Given the description of an element on the screen output the (x, y) to click on. 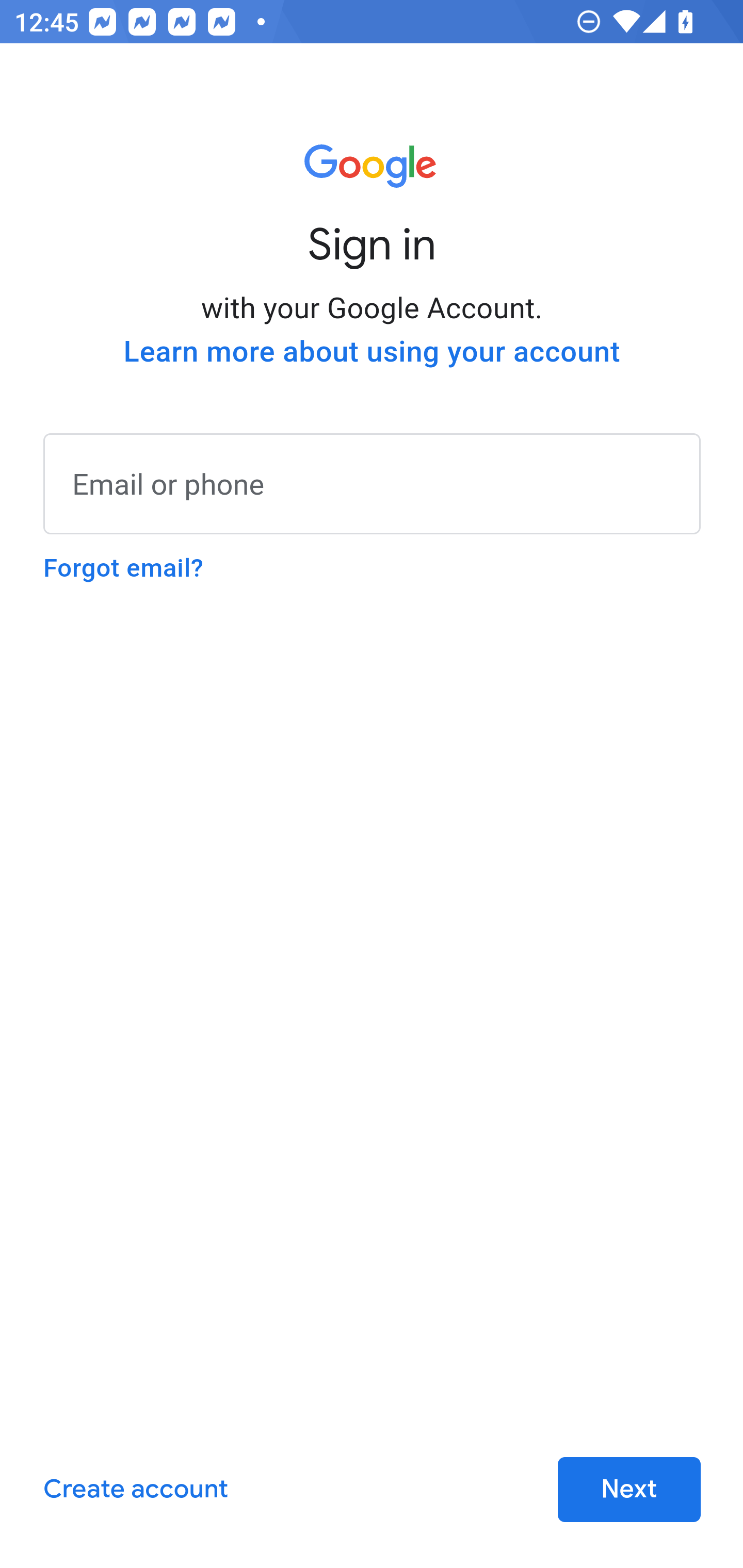
Learn more about using your account (371, 351)
Forgot email? (123, 568)
Create account (134, 1490)
Next (629, 1490)
